Given the description of an element on the screen output the (x, y) to click on. 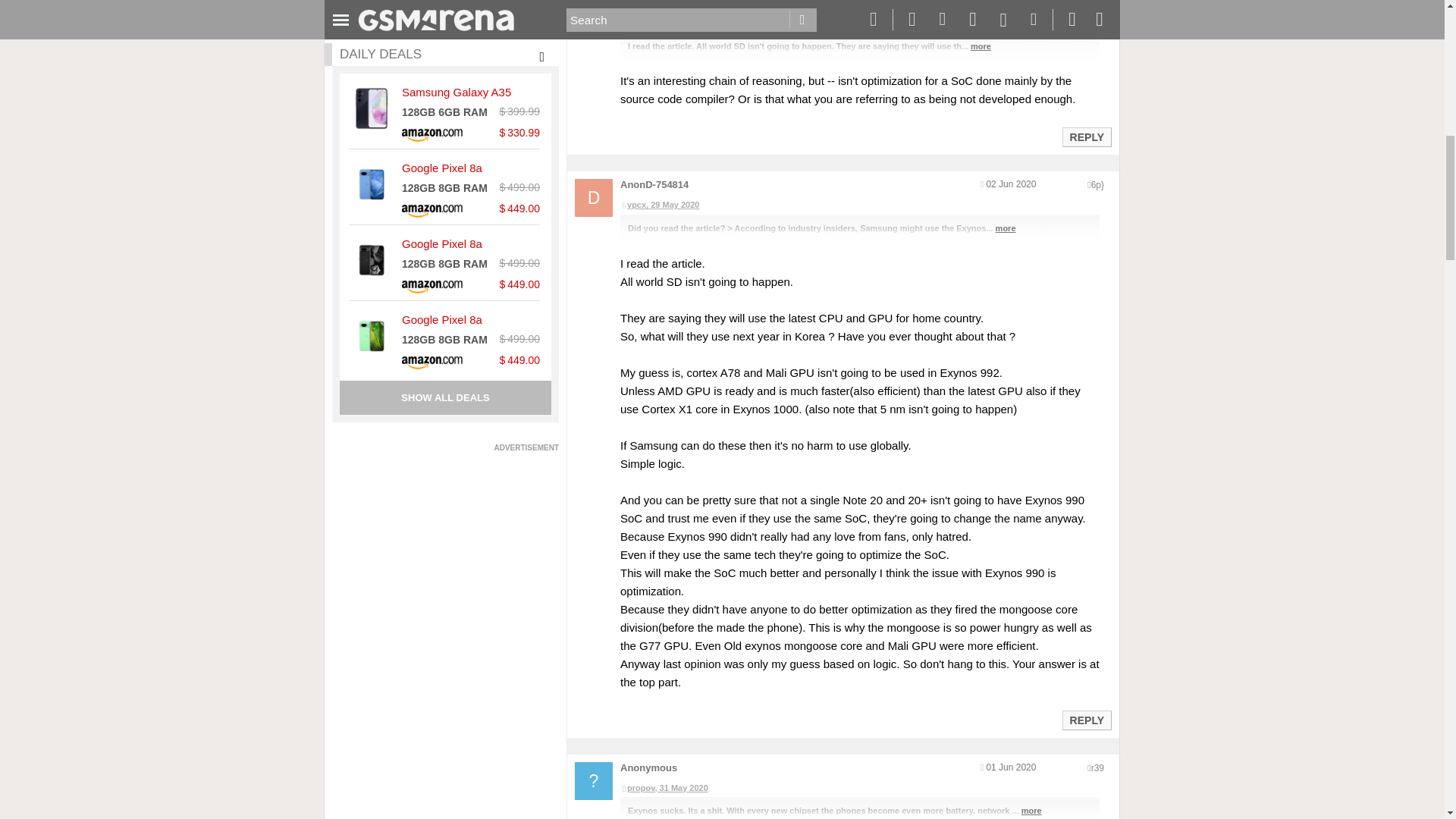
Encoded anonymized location (1094, 4)
Reply to this post (1086, 137)
Encoded anonymized location (1096, 767)
Encoded anonymized location (1096, 184)
Reply to this post (1086, 720)
